Given the description of an element on the screen output the (x, y) to click on. 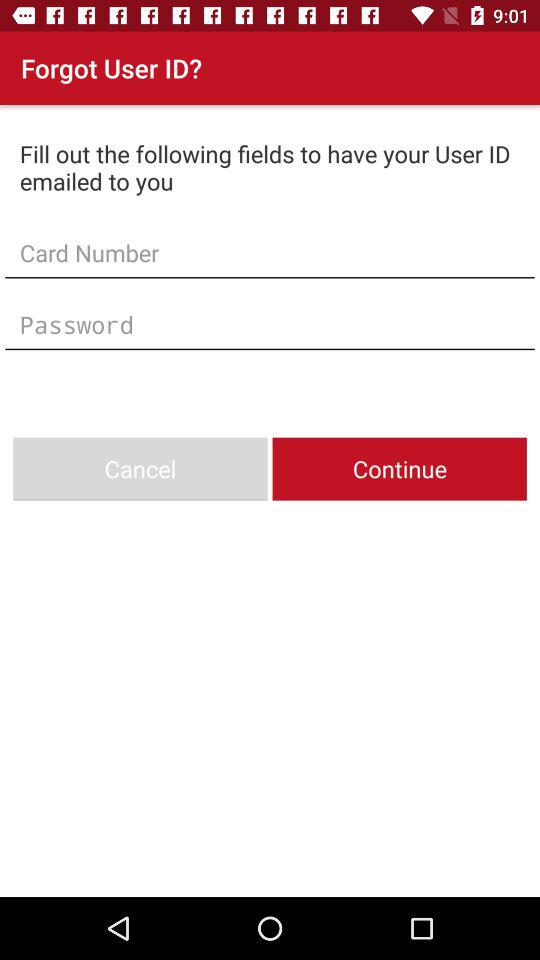
launch continue on the right (399, 468)
